Given the description of an element on the screen output the (x, y) to click on. 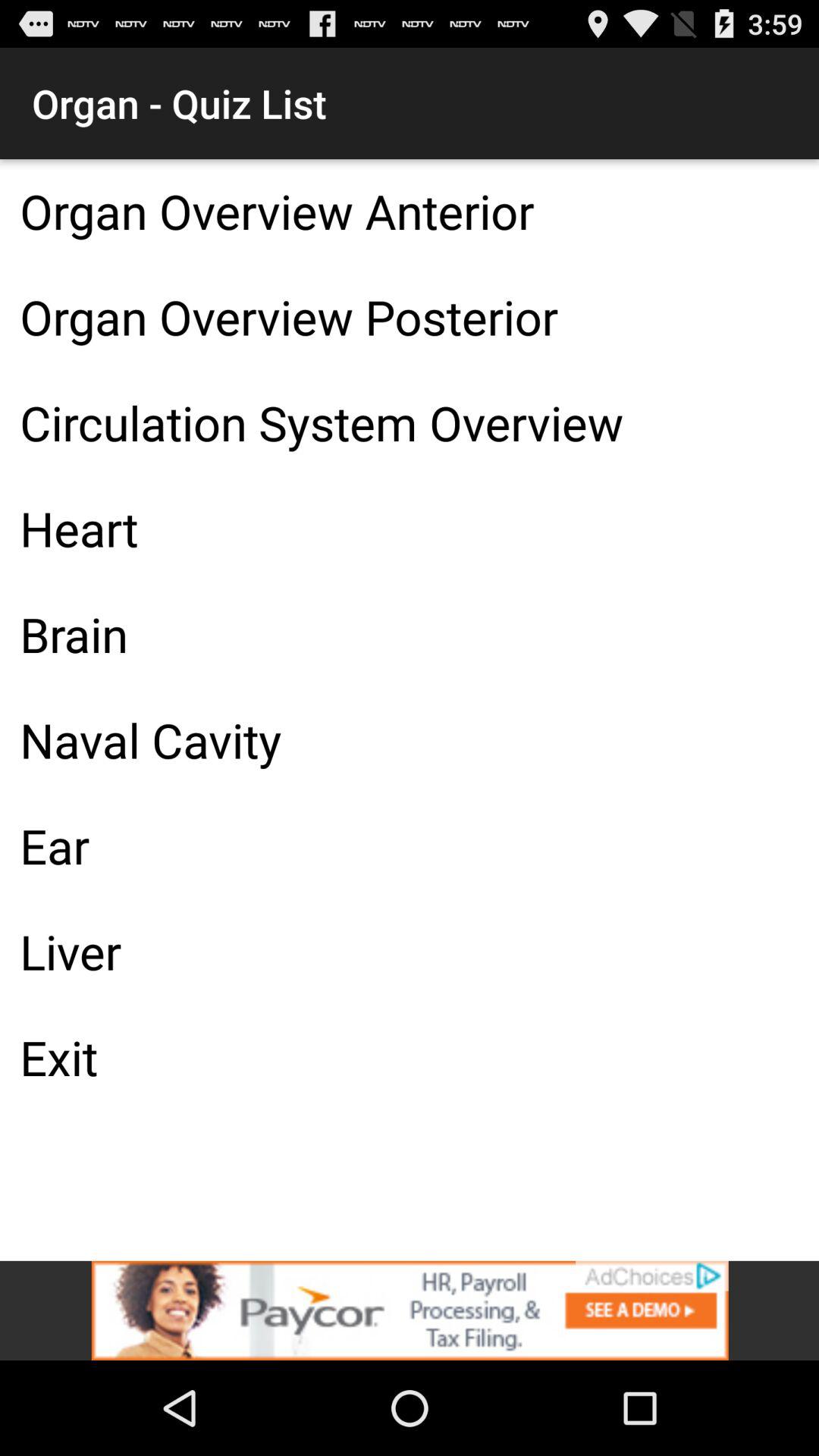
to go speakev (409, 1310)
